Given the description of an element on the screen output the (x, y) to click on. 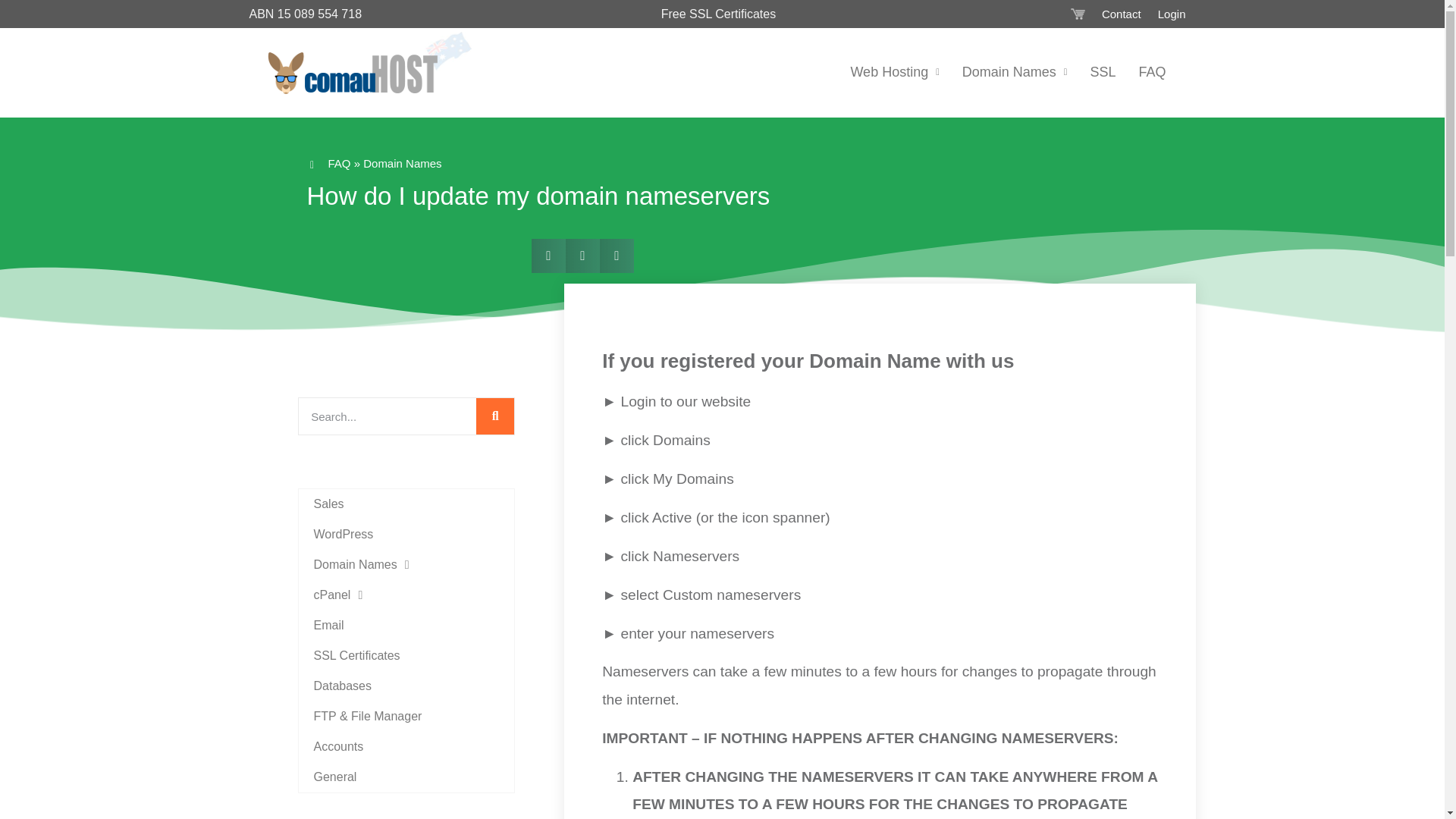
Login (1171, 13)
FAQ (338, 163)
FAQ (1151, 72)
WordPress (406, 534)
Domain Names (406, 564)
Web Hosting Cart (1077, 13)
SSL (1102, 72)
Web Hosting (894, 72)
Contact (1121, 13)
cPanel (406, 594)
